Given the description of an element on the screen output the (x, y) to click on. 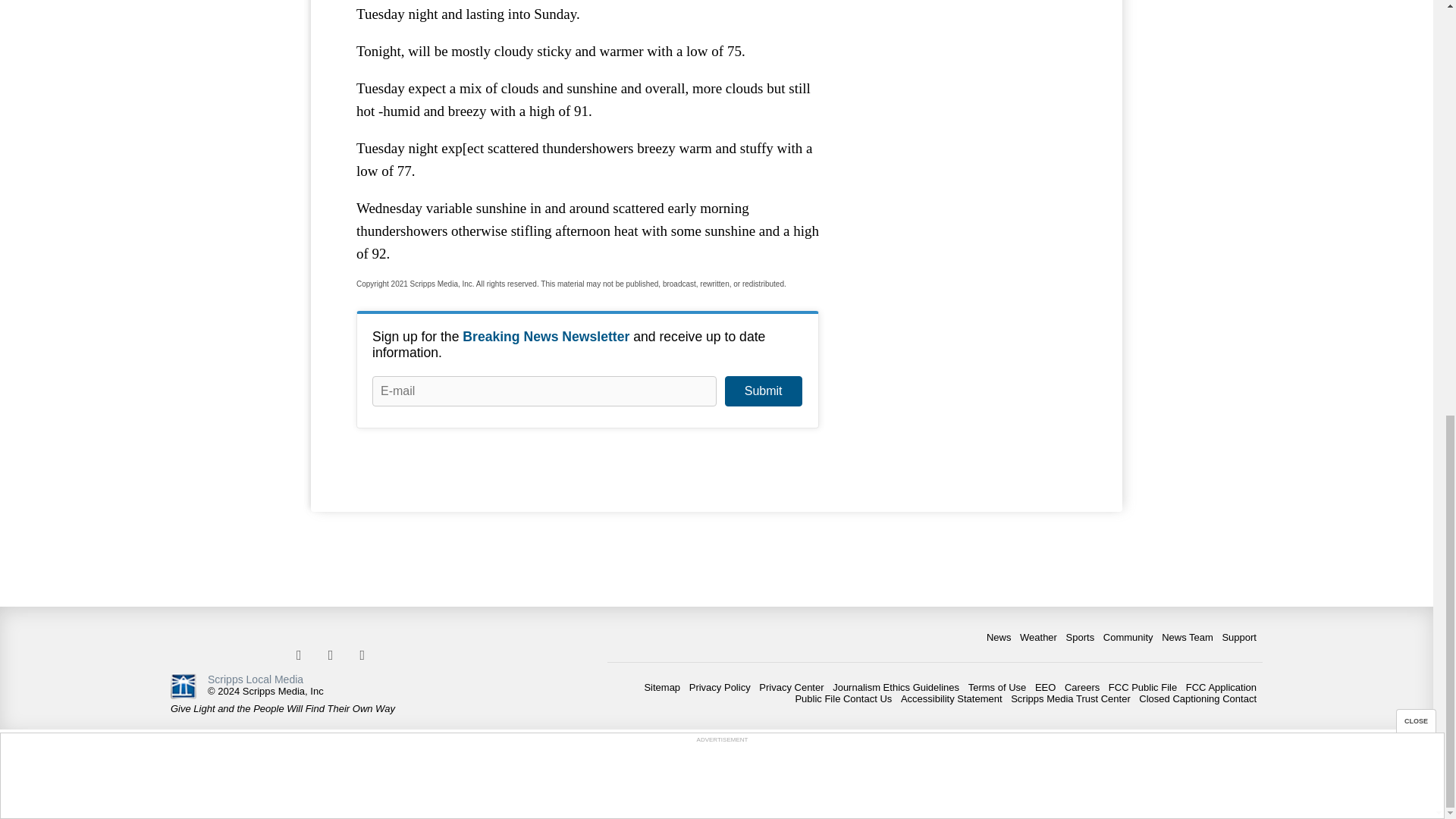
Submit (763, 390)
